Given the description of an element on the screen output the (x, y) to click on. 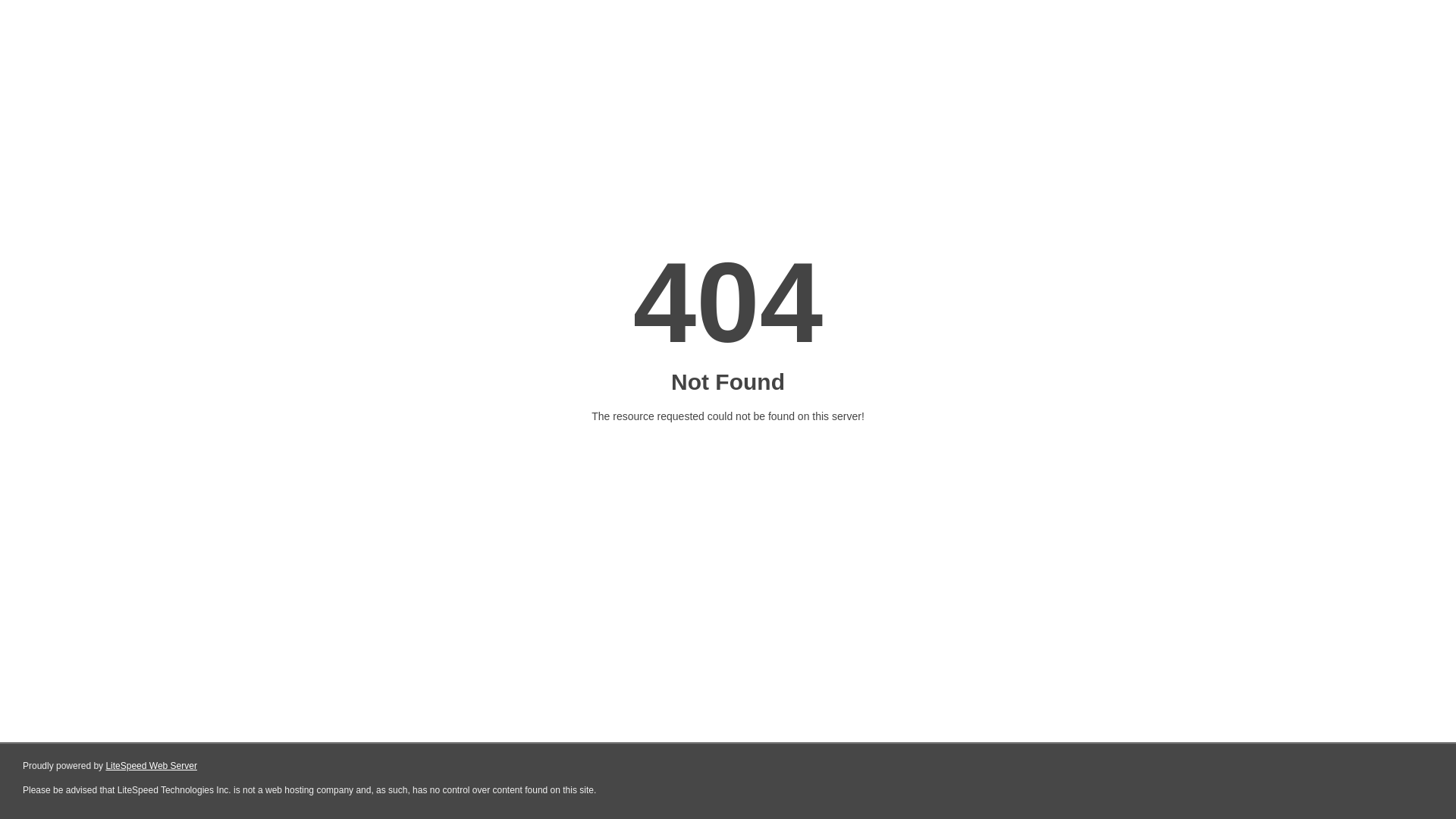
LiteSpeed Web Server Element type: text (151, 765)
